Given the description of an element on the screen output the (x, y) to click on. 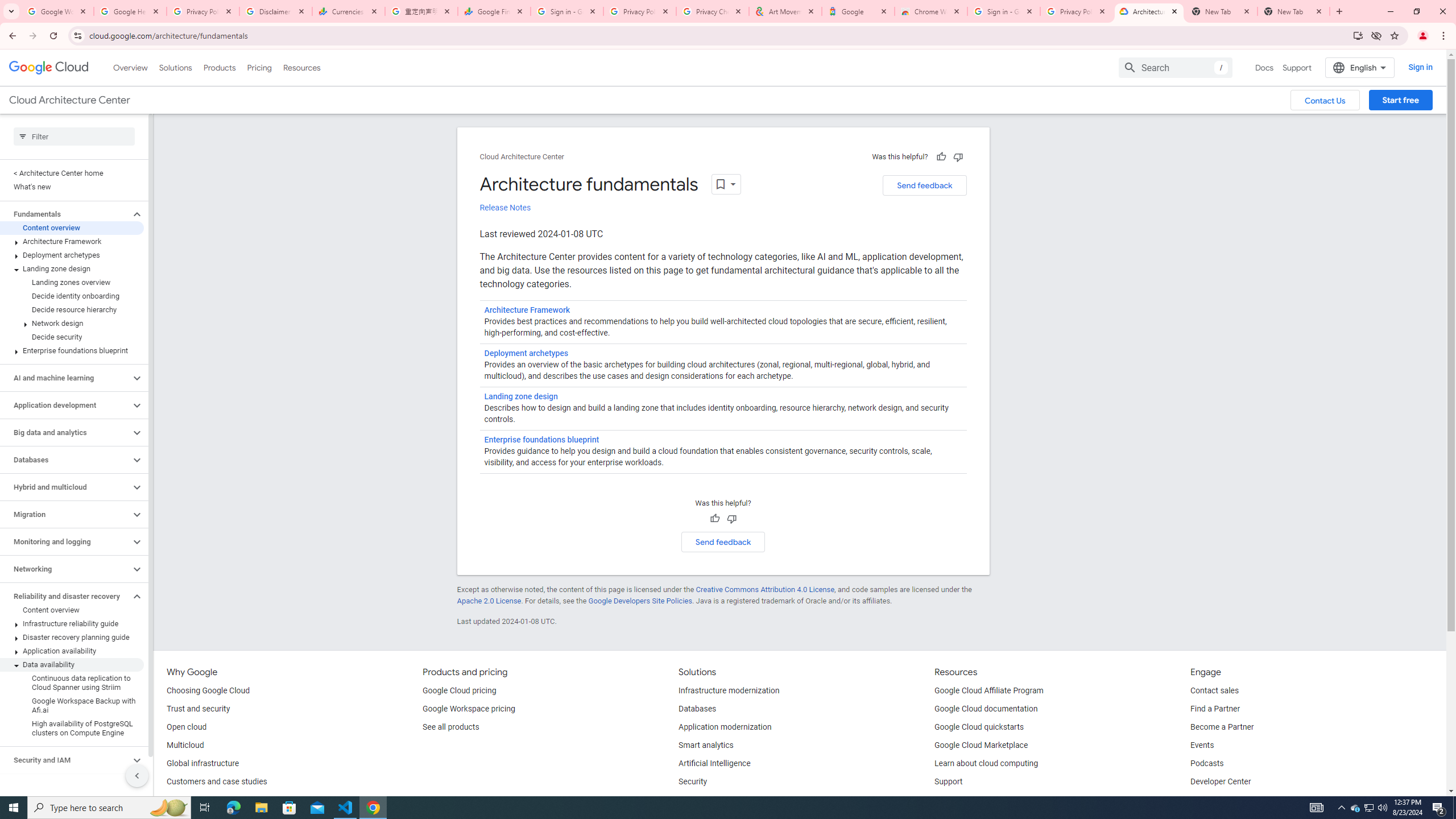
Security and IAM (64, 760)
Big data and analytics (64, 432)
Press Corner (1213, 800)
Learn about cloud computing (986, 764)
Google Cloud quickstarts (978, 727)
Google Workspace pricing (468, 709)
